Given the description of an element on the screen output the (x, y) to click on. 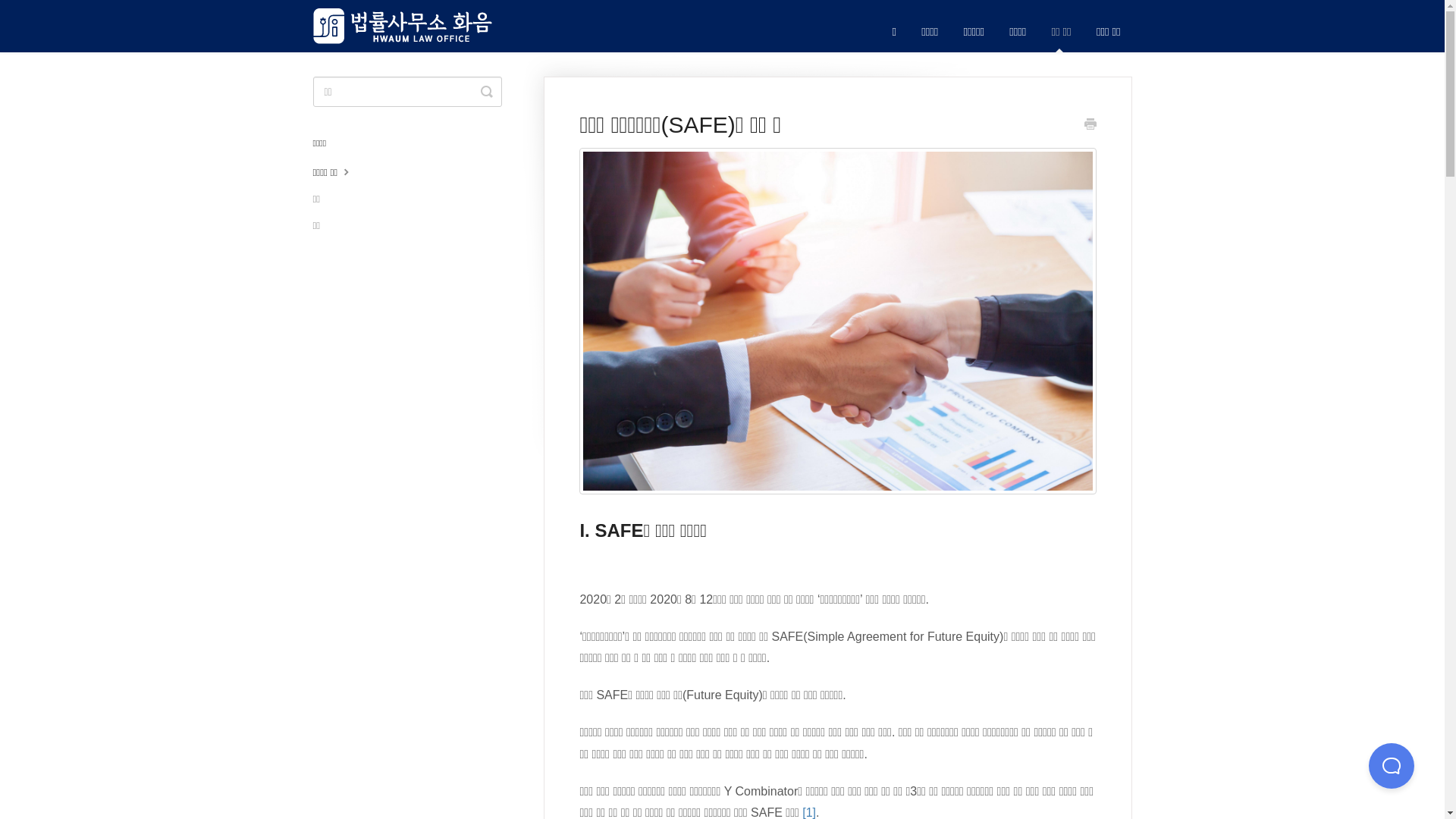
Toggle Search Element type: text (486, 91)
search-query Element type: hover (406, 91)
